Given the description of an element on the screen output the (x, y) to click on. 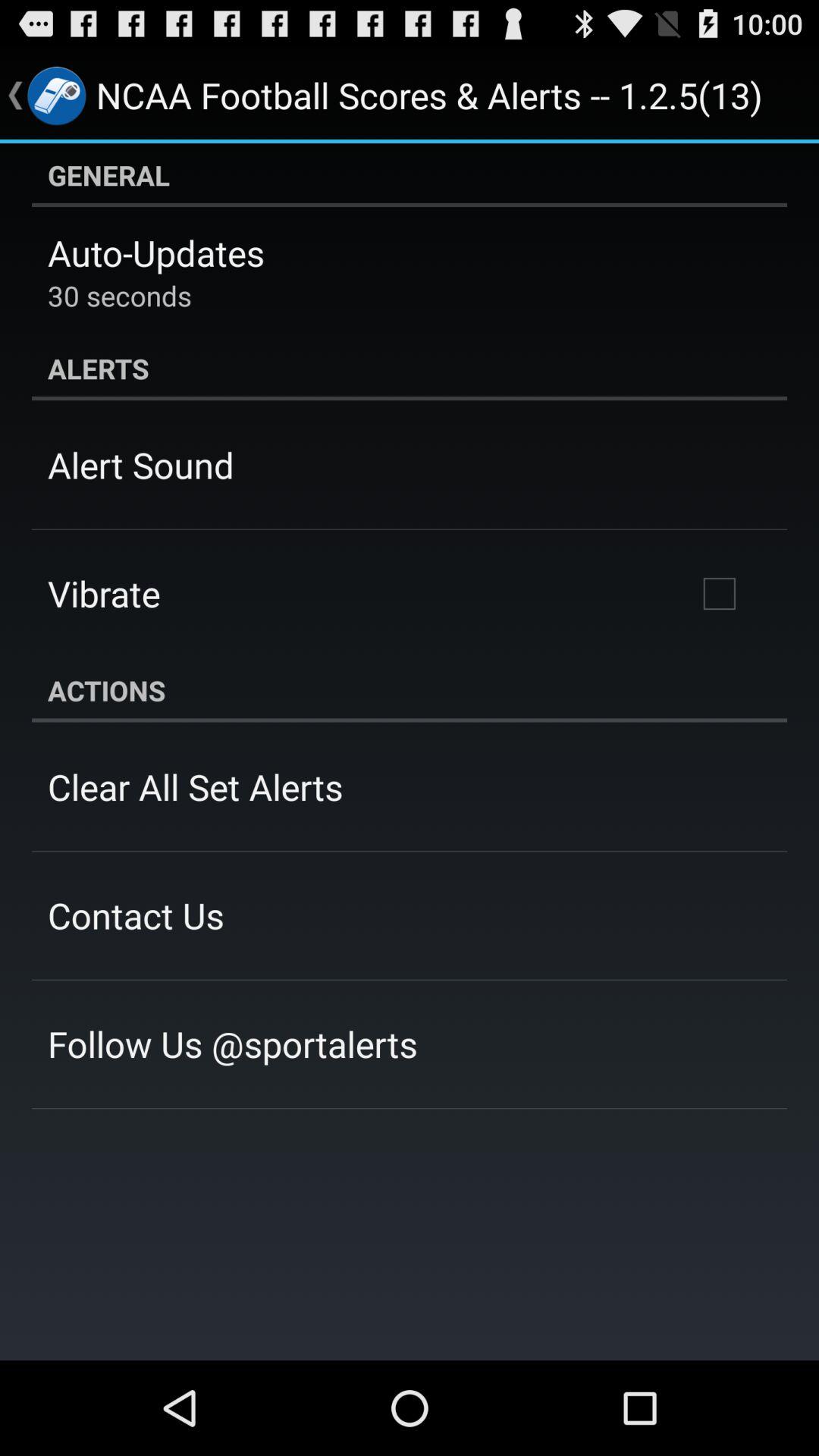
launch the contact us app (135, 915)
